Given the description of an element on the screen output the (x, y) to click on. 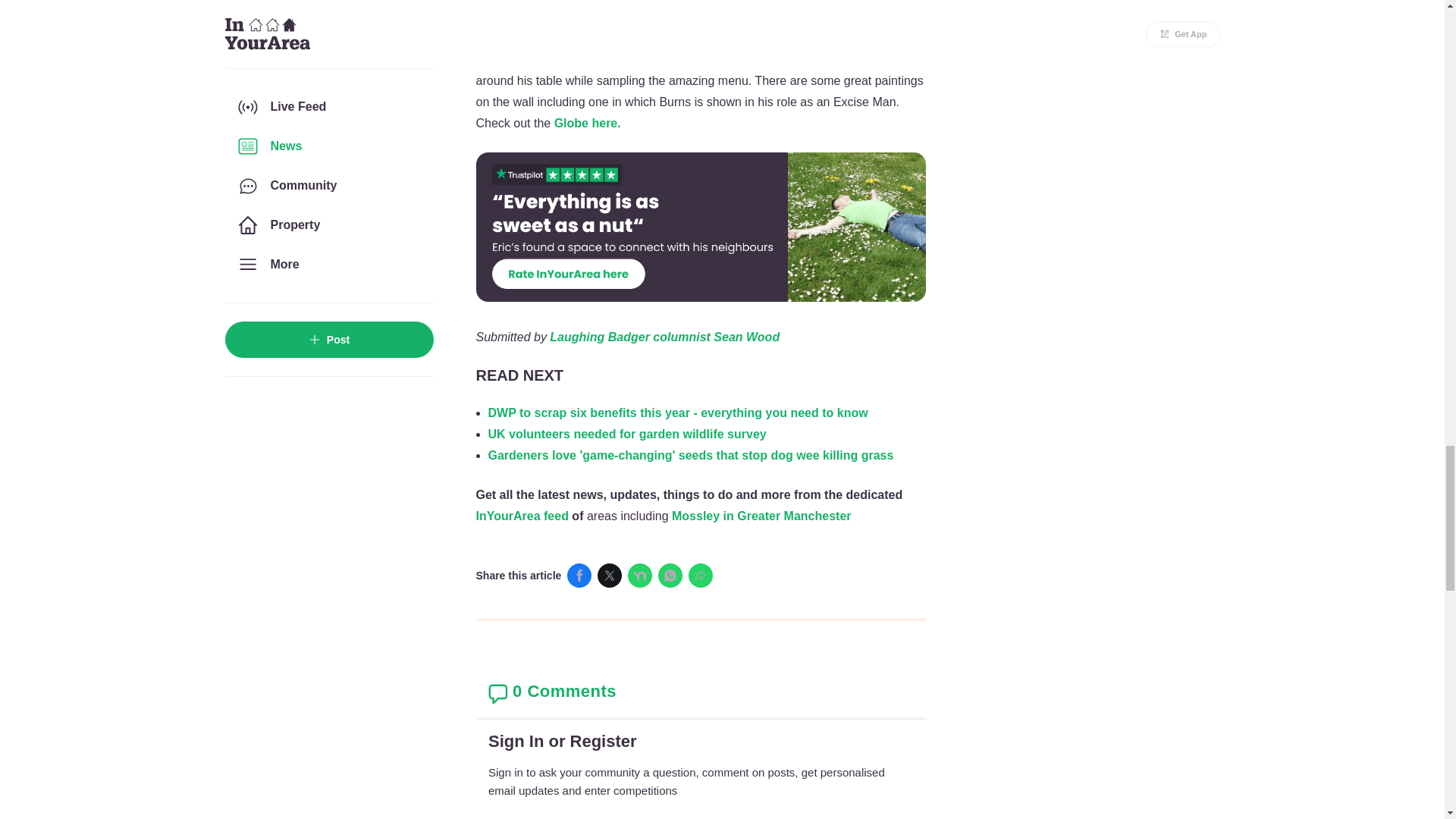
Share to Nextdoor (639, 575)
comments (701, 729)
Share to X (608, 575)
Share to ... (700, 575)
Share to Whatsapp (670, 575)
Share to Facebook (579, 575)
